Given the description of an element on the screen output the (x, y) to click on. 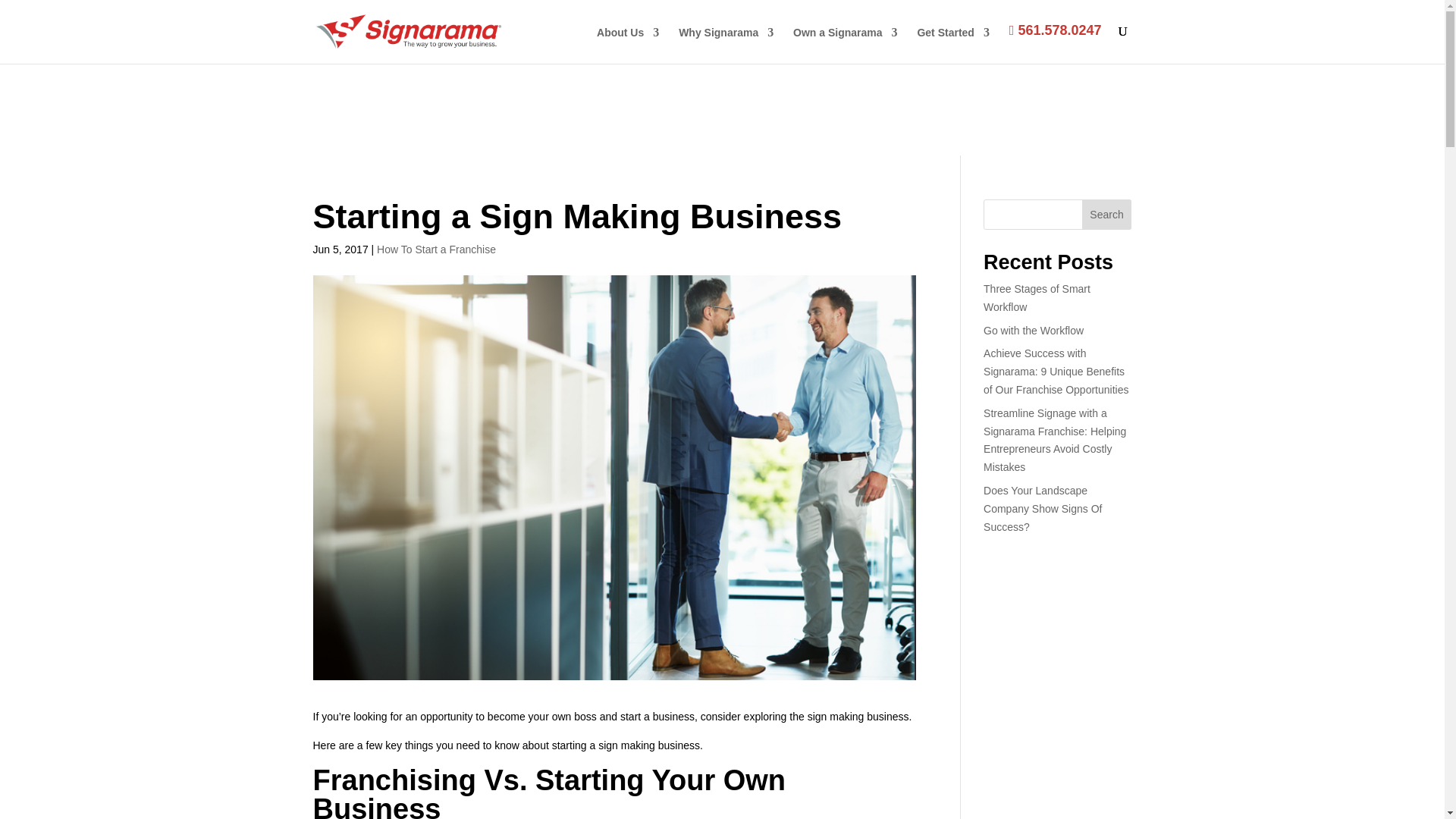
About Us (627, 45)
Why Signarama (725, 45)
Own a Signarama (844, 45)
561.578.0247 (1055, 42)
Search (1106, 214)
Get Started (952, 45)
